Given the description of an element on the screen output the (x, y) to click on. 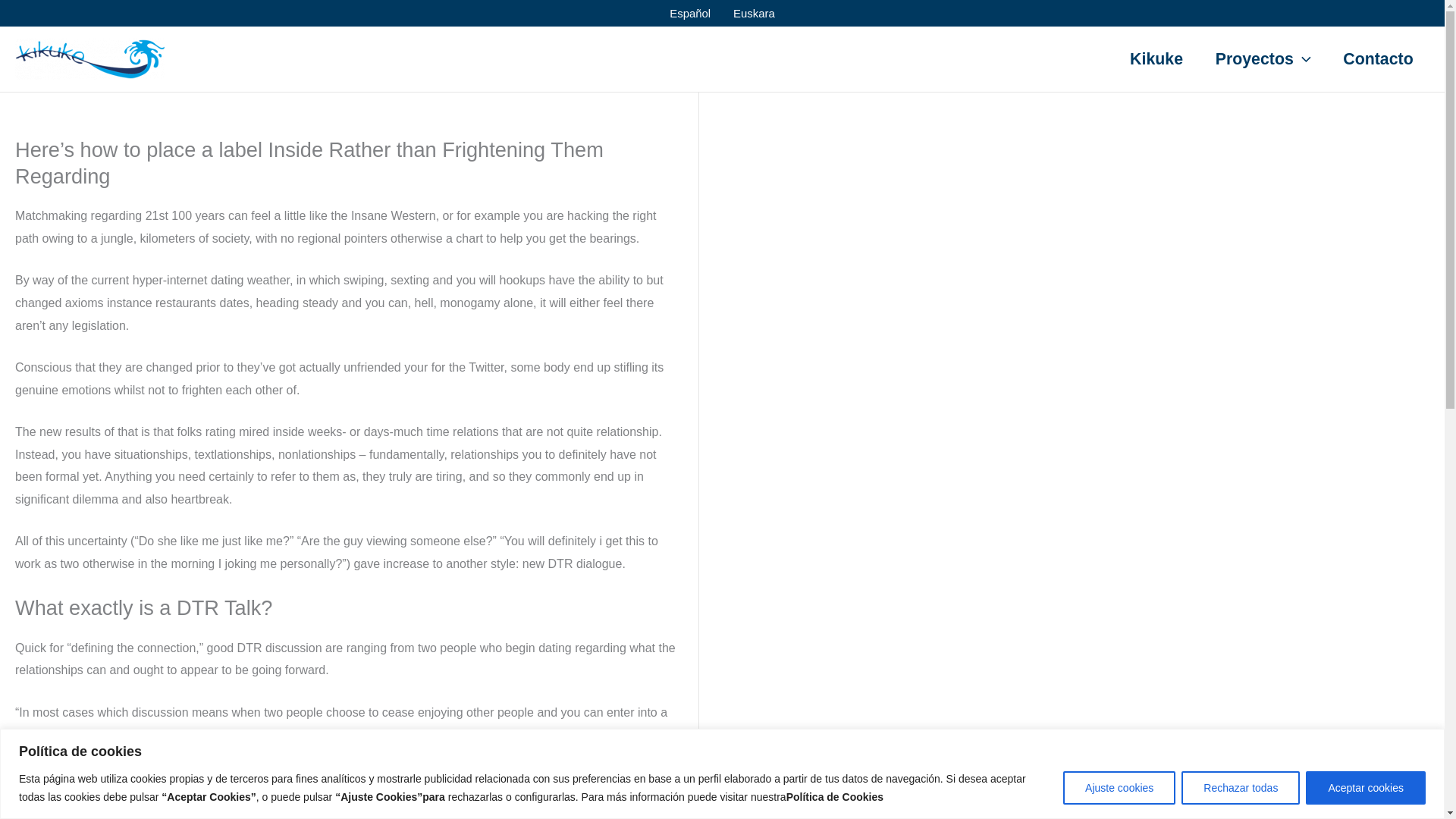
Ajuste cookies (1118, 786)
Euskara (754, 13)
Kikuke (1156, 58)
Rechazar todas (1240, 786)
Aceptar cookies (1365, 786)
Contacto (1377, 58)
Proyectos (1262, 58)
